Given the description of an element on the screen output the (x, y) to click on. 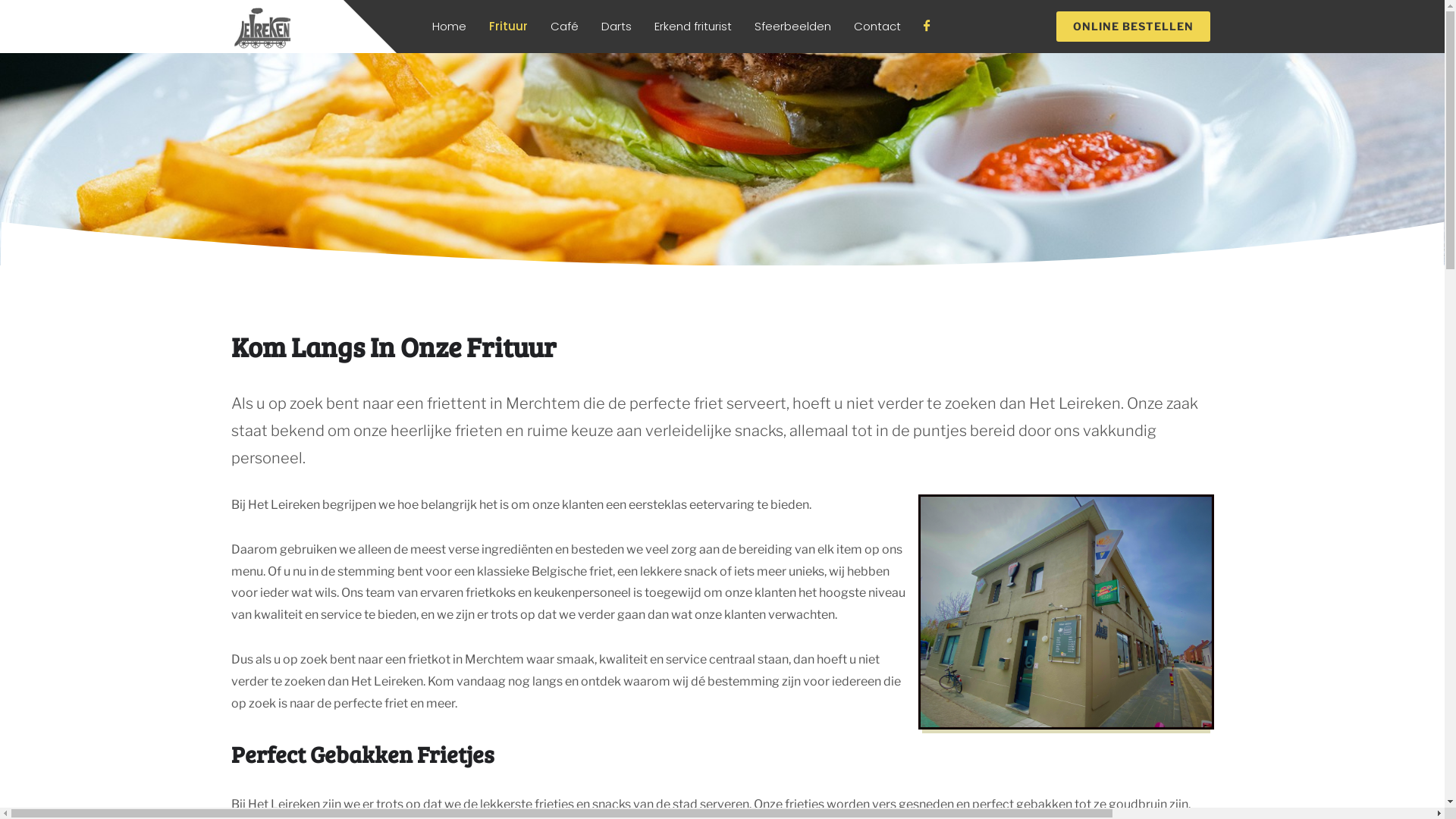
Erkend friturist Element type: text (693, 26)
ONLINE BESTELLEN Element type: text (1132, 26)
Sfeerbeelden Element type: text (792, 26)
Darts Element type: text (616, 26)
Home Element type: text (448, 26)
Frituur Element type: text (508, 26)
Contact Element type: text (877, 26)
